Given the description of an element on the screen output the (x, y) to click on. 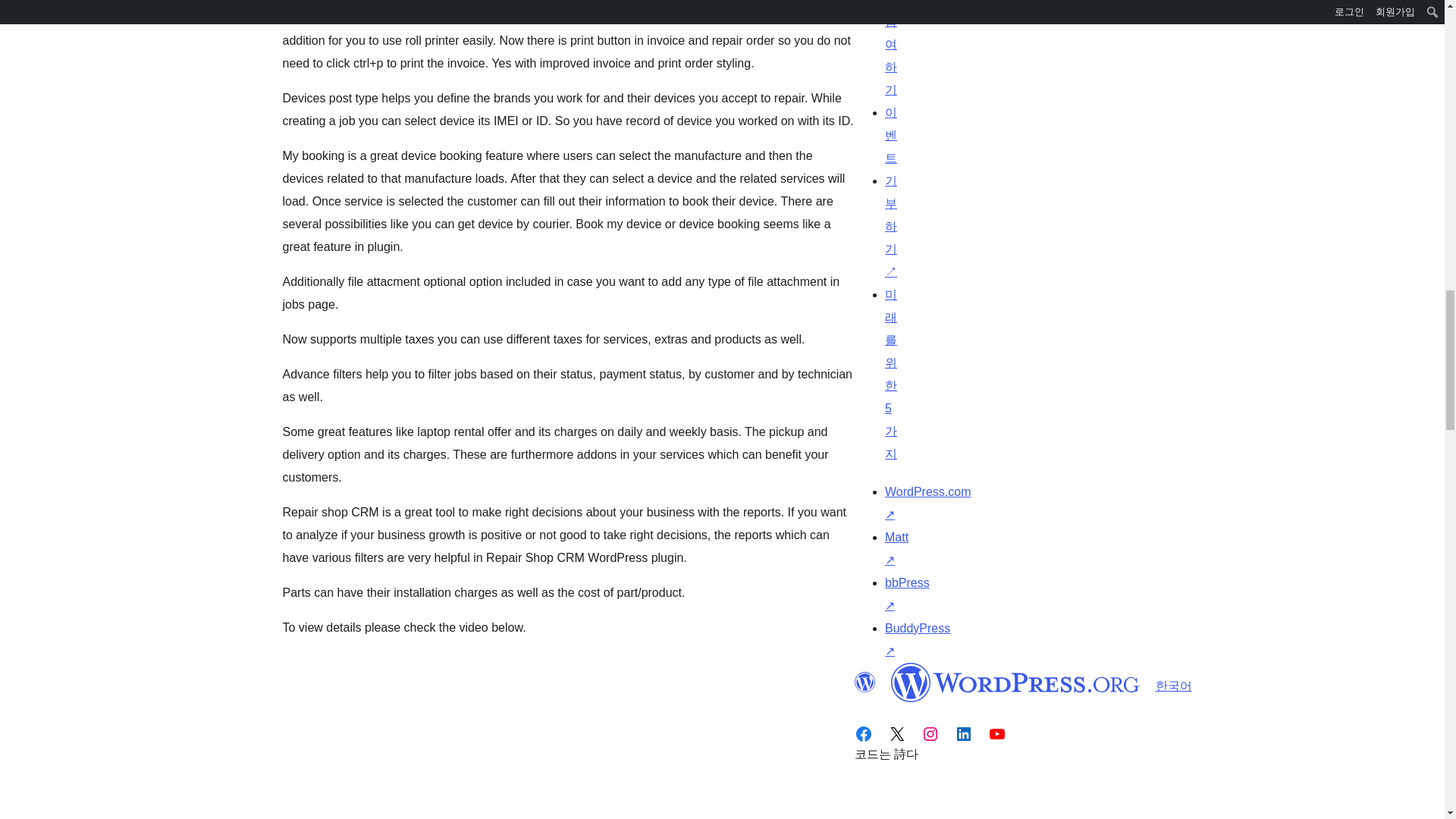
WordPress.org (864, 681)
WordPress.org (1014, 681)
